Given the description of an element on the screen output the (x, y) to click on. 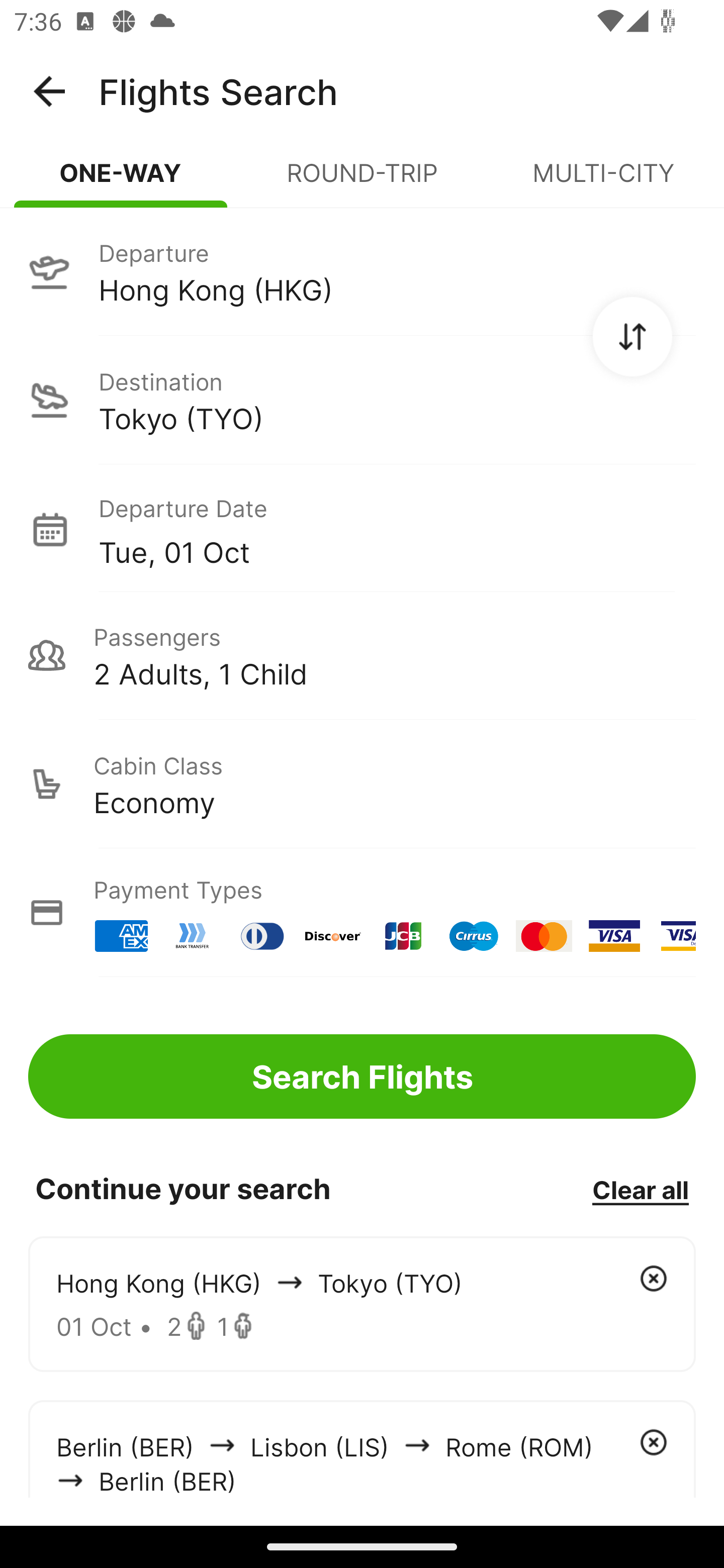
ONE-WAY (120, 180)
ROUND-TRIP (361, 180)
MULTI-CITY (603, 180)
Departure Hong Kong (HKG) (362, 270)
Destination Tokyo (TYO) (362, 400)
Departure Date Tue, 01 Oct (396, 528)
Passengers 2 Adults, 1 Child (362, 655)
Cabin Class Economy (362, 783)
Payment Types (362, 912)
Search Flights (361, 1075)
Clear all (640, 1189)
